Given the description of an element on the screen output the (x, y) to click on. 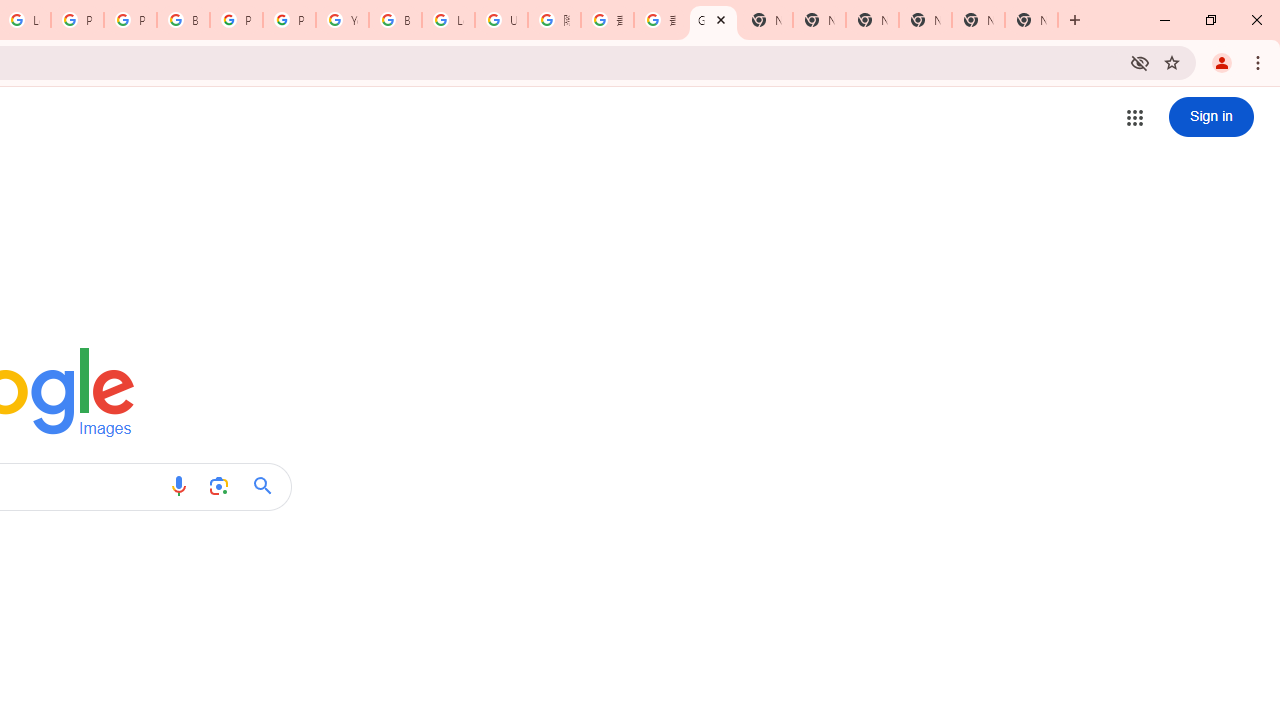
YouTube (342, 20)
Google Images (713, 20)
